Given the description of an element on the screen output the (x, y) to click on. 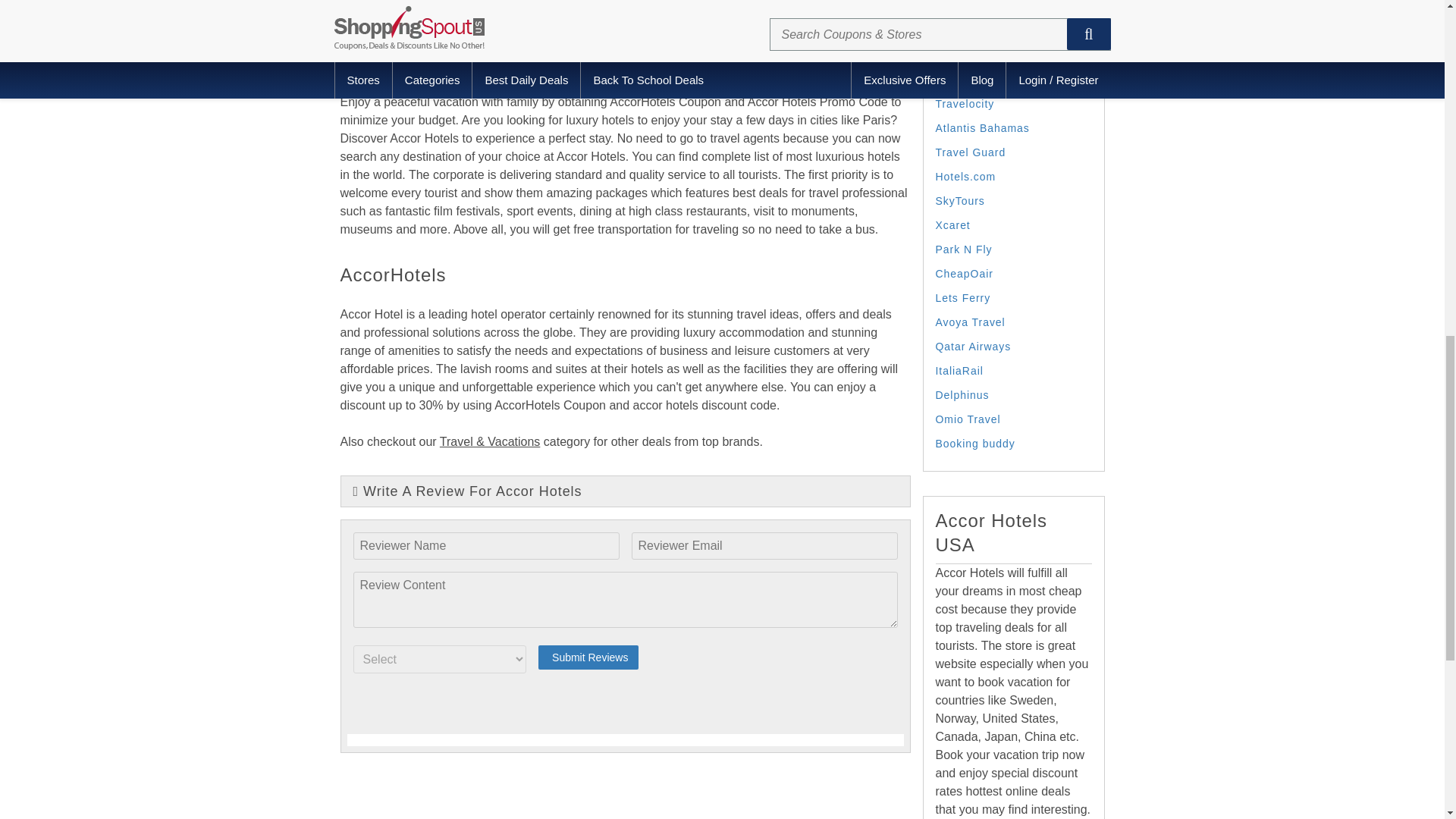
Lets Ferry (963, 297)
Sixt (946, 55)
Travel Guard (971, 152)
Travelocity (965, 103)
ParisCityVision (976, 79)
ItaliaRail (960, 370)
CheapOair (964, 273)
Avoya Travel (971, 322)
SkyTours (960, 200)
Hotels.com (965, 176)
